Given the description of an element on the screen output the (x, y) to click on. 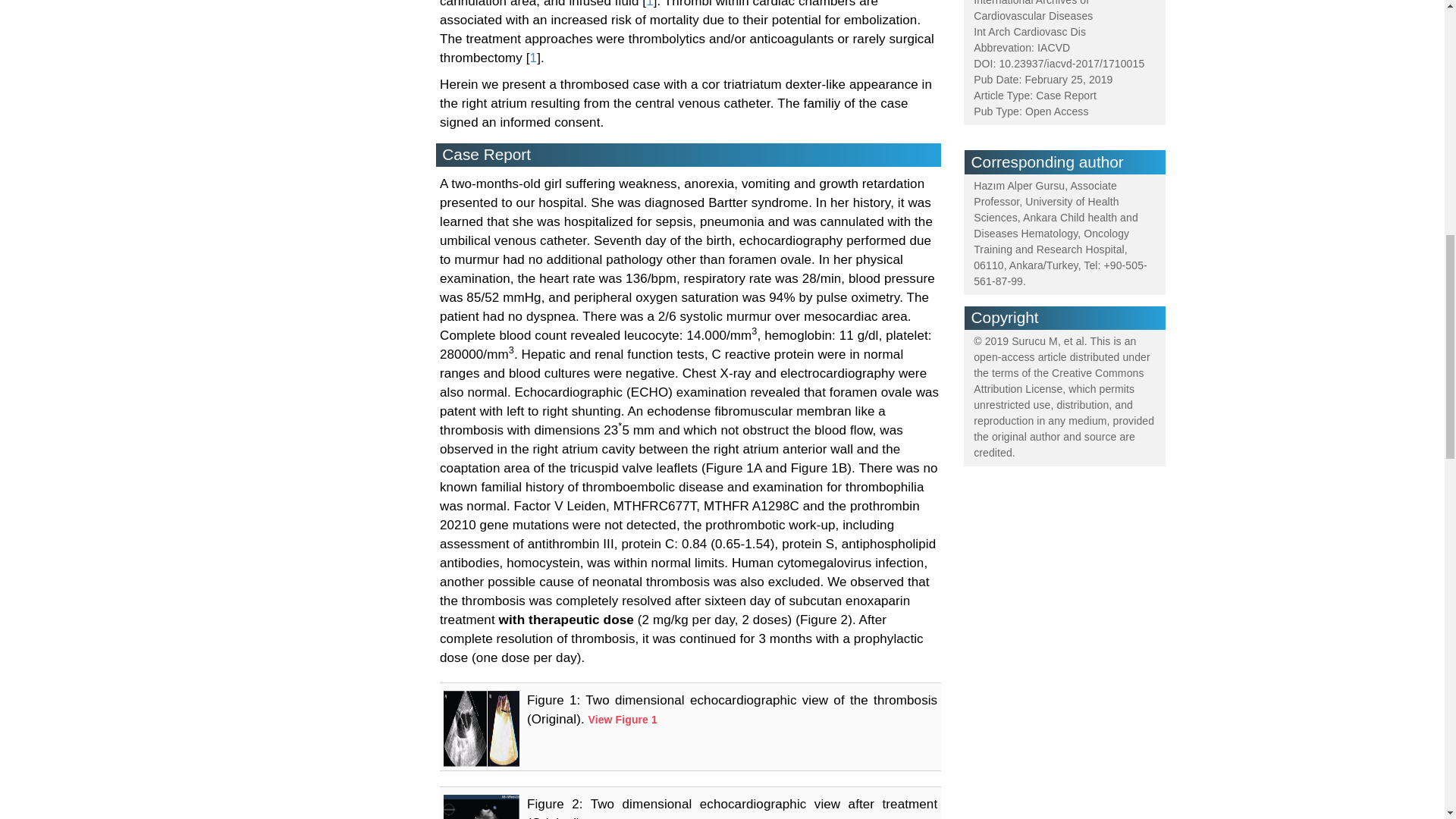
View Figure 1 (623, 718)
View Figure 2 (623, 817)
1 (649, 4)
